Given the description of an element on the screen output the (x, y) to click on. 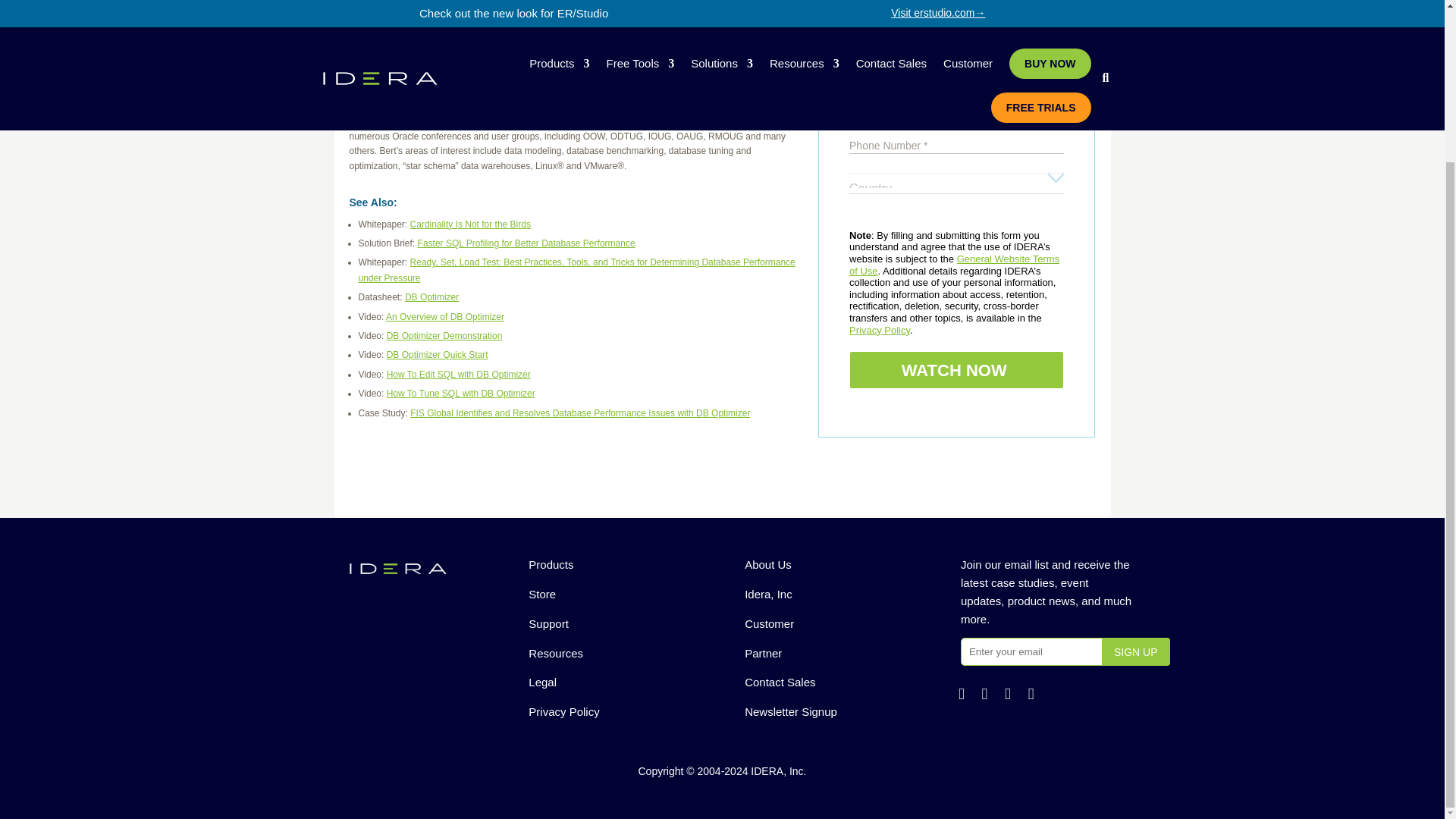
Sign up (1136, 651)
Idera-Logo (397, 568)
Watch Now (956, 370)
